Given the description of an element on the screen output the (x, y) to click on. 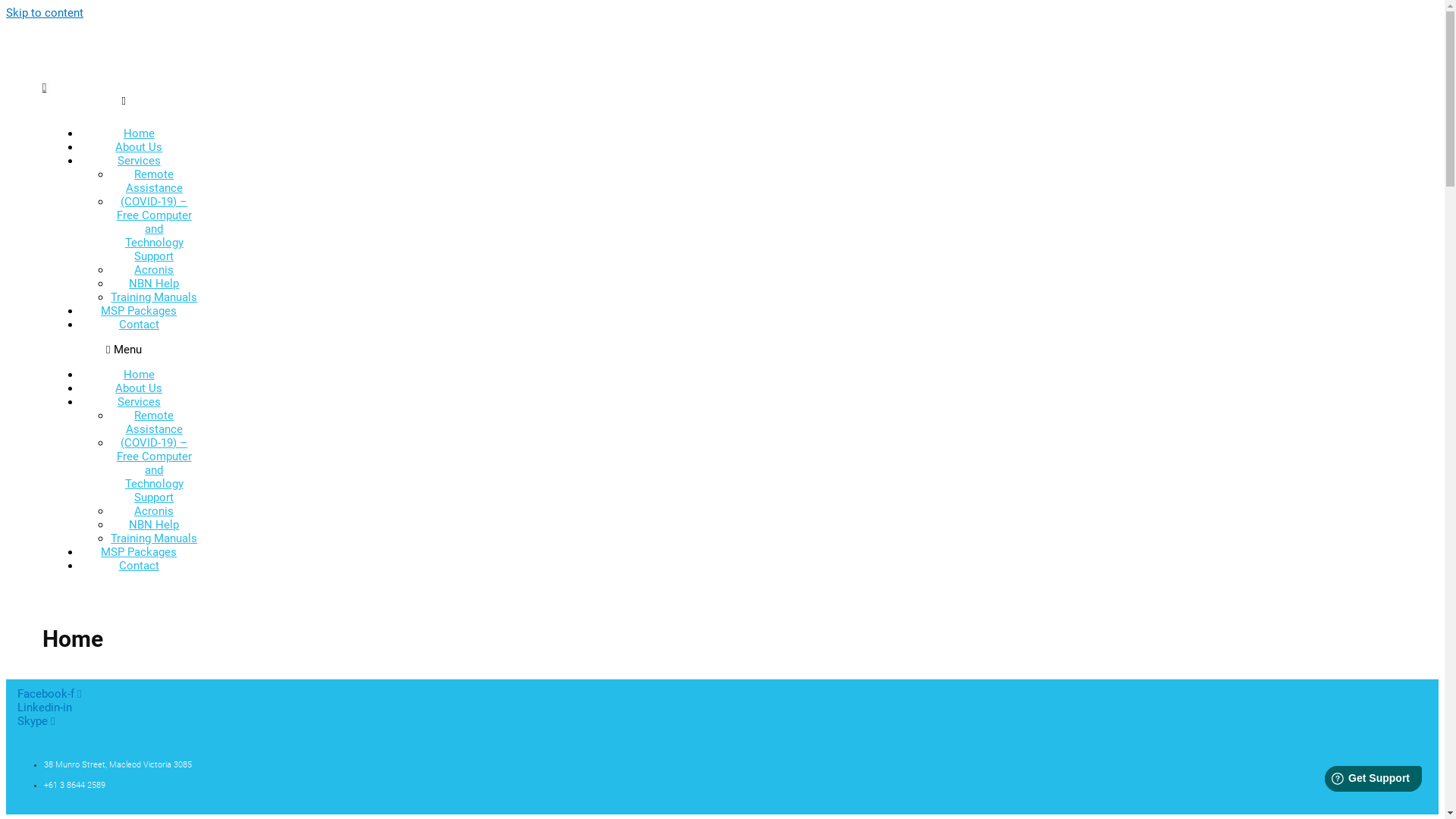
Skype Element type: text (35, 721)
Services Element type: text (138, 160)
Facebook-f Element type: text (49, 693)
Remote Assistance Element type: text (153, 180)
Skip to content Element type: text (44, 12)
NBN Help Element type: text (153, 524)
Services Element type: text (138, 401)
Training Manuals Element type: text (153, 538)
Acronis Element type: text (153, 269)
MSP Packages Element type: text (138, 310)
Home Element type: text (138, 133)
Contact Element type: text (139, 324)
MSP Packages Element type: text (138, 551)
Contact Element type: text (139, 565)
NBN Help Element type: text (153, 283)
Linkedin-in Element type: text (44, 707)
About Us Element type: text (138, 146)
Training Manuals Element type: text (153, 297)
Acronis Element type: text (153, 510)
Home Element type: text (138, 374)
About Us Element type: text (138, 388)
Remote Assistance Element type: text (153, 422)
